Given the description of an element on the screen output the (x, y) to click on. 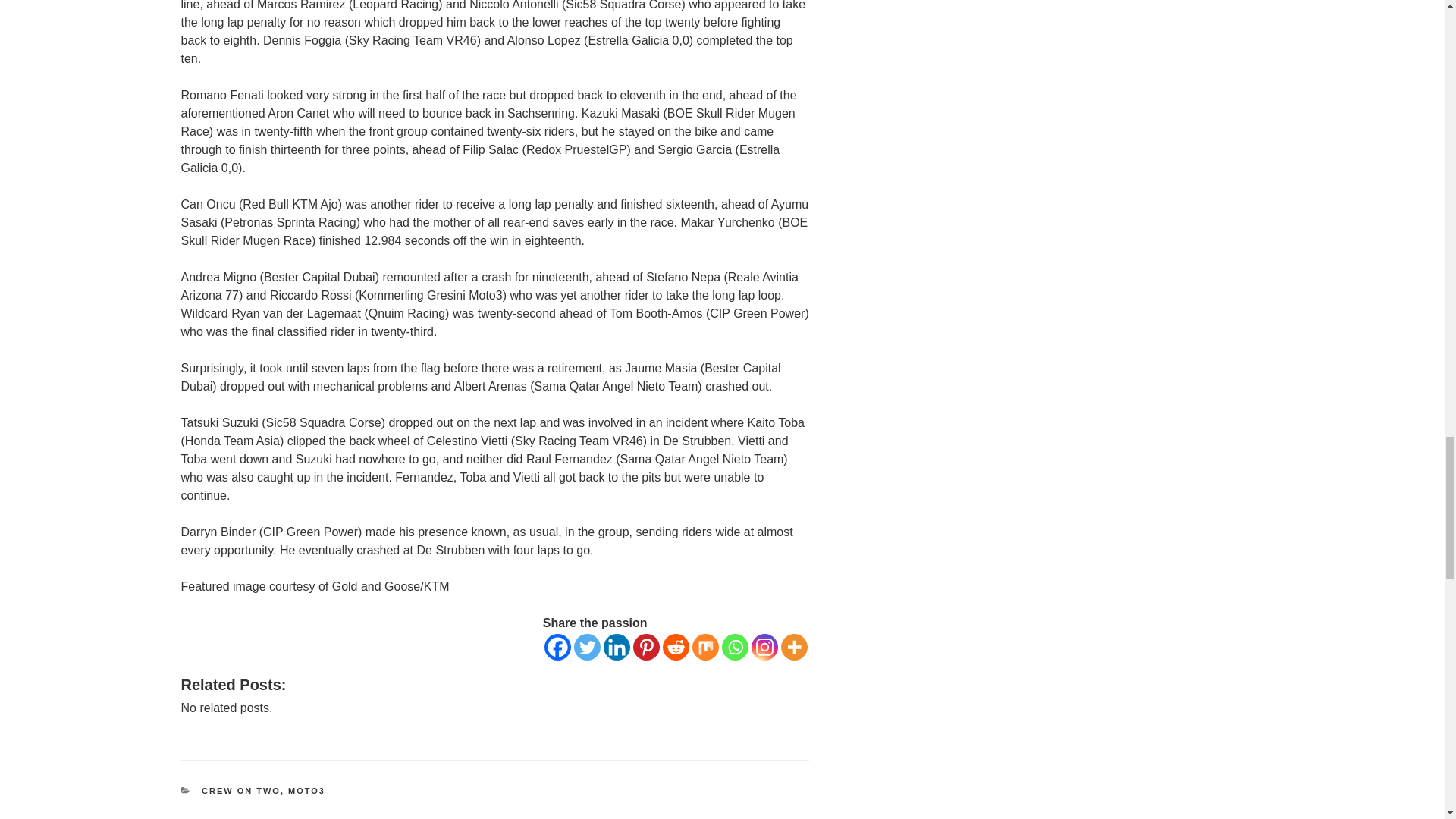
More (794, 646)
Twitter (586, 646)
Pinterest (646, 646)
Whatsapp (735, 646)
Mix (706, 646)
Linkedin (617, 646)
Instagram (764, 646)
Facebook (557, 646)
Reddit (675, 646)
